Given the description of an element on the screen output the (x, y) to click on. 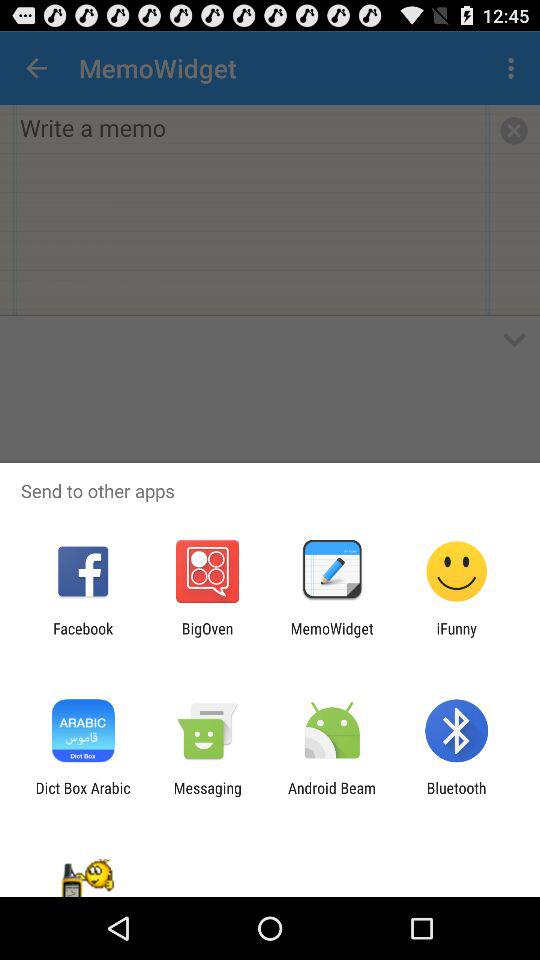
select item to the left of memowidget icon (207, 637)
